Given the description of an element on the screen output the (x, y) to click on. 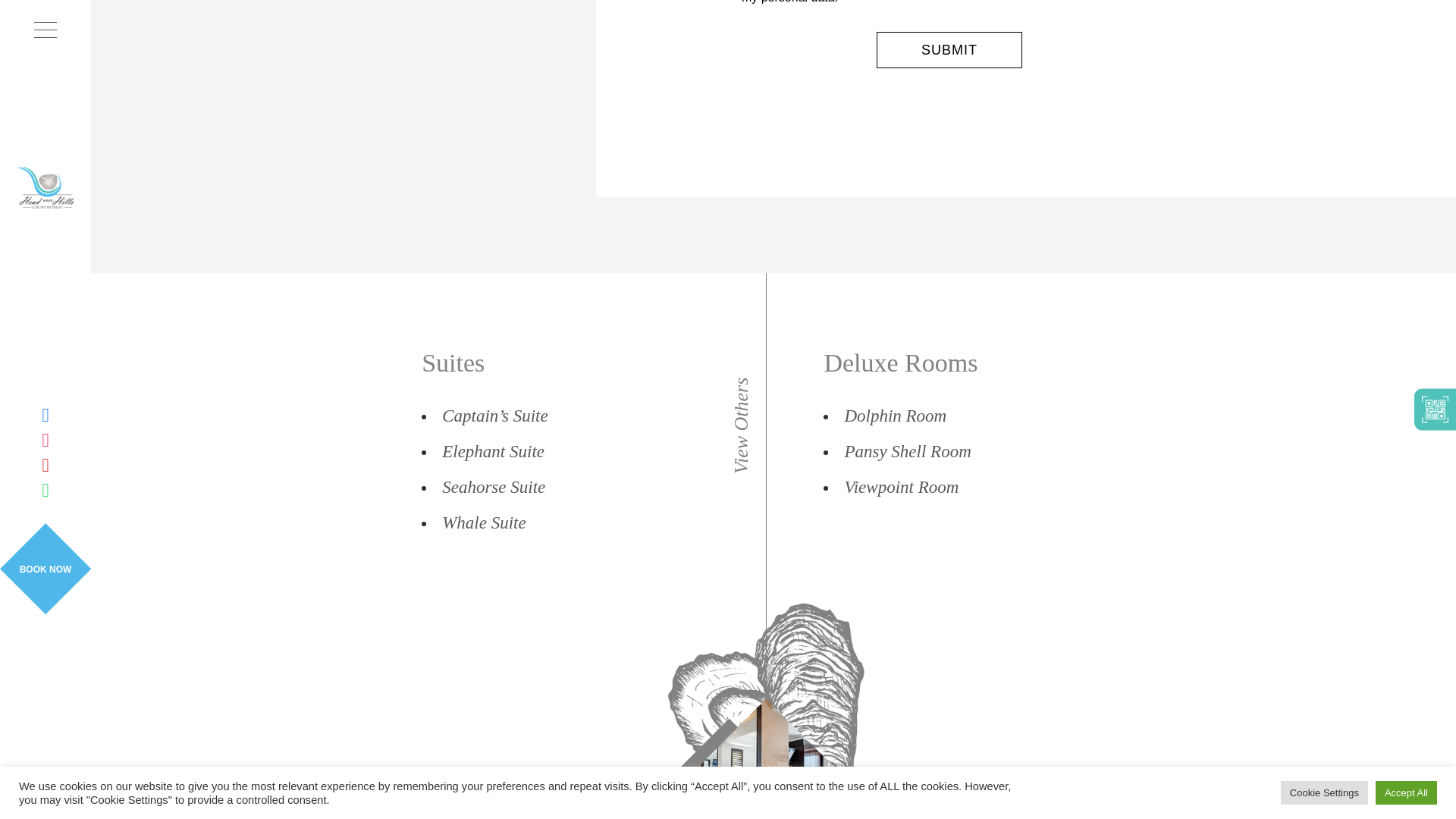
SUBMIT (949, 49)
Elephant Suite (493, 451)
Seahorse Suite (493, 487)
Whale Suite (483, 522)
Dolphin Room (895, 416)
Viewpoint Room (901, 487)
SUBMIT (949, 49)
Pansy Shell Room (907, 451)
